Given the description of an element on the screen output the (x, y) to click on. 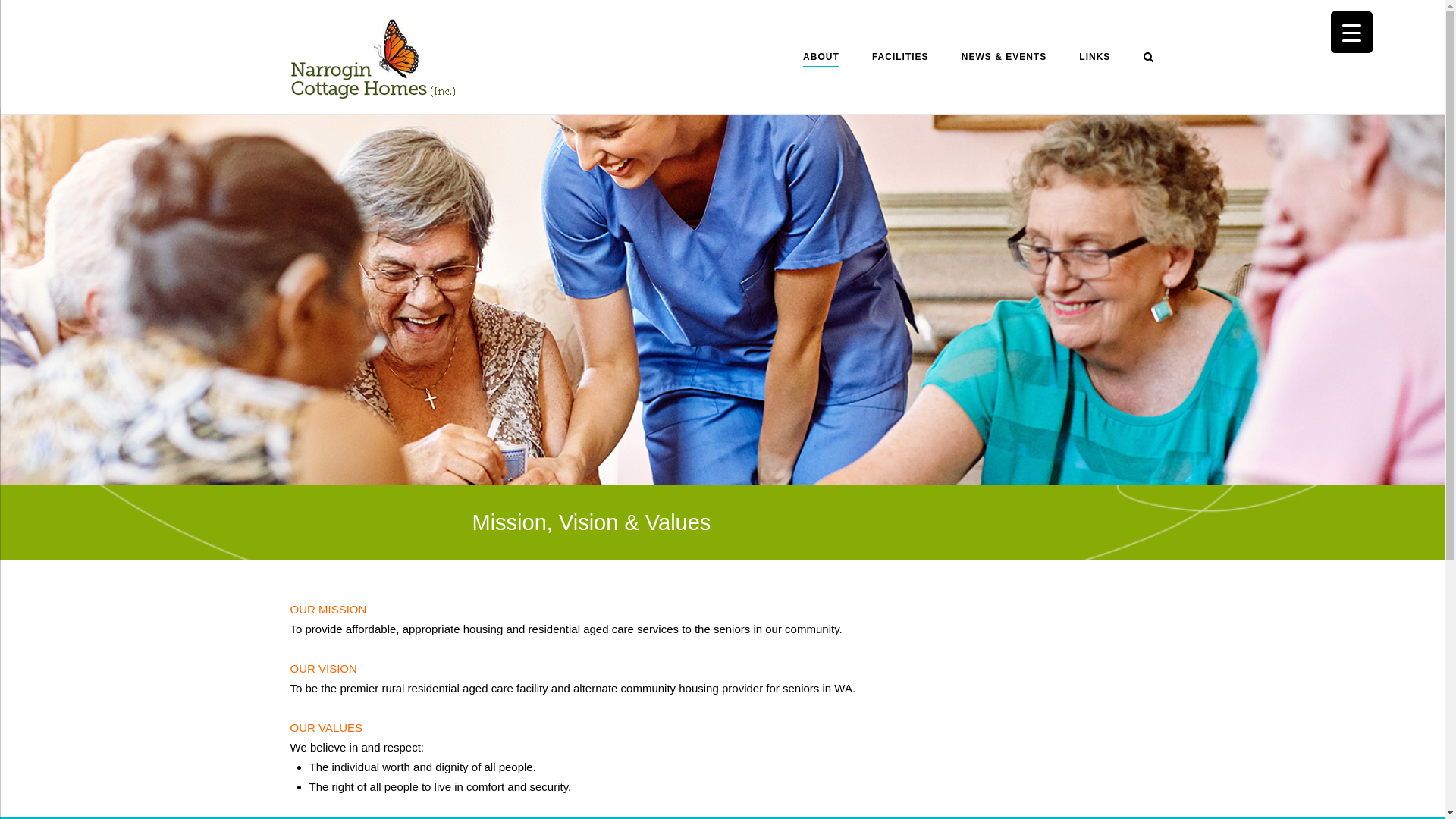
NEWS & EVENTS Element type: text (1003, 58)
FACILITIES Element type: text (900, 58)
LINKS Element type: text (1094, 59)
ABOUT Element type: text (821, 59)
